Given the description of an element on the screen output the (x, y) to click on. 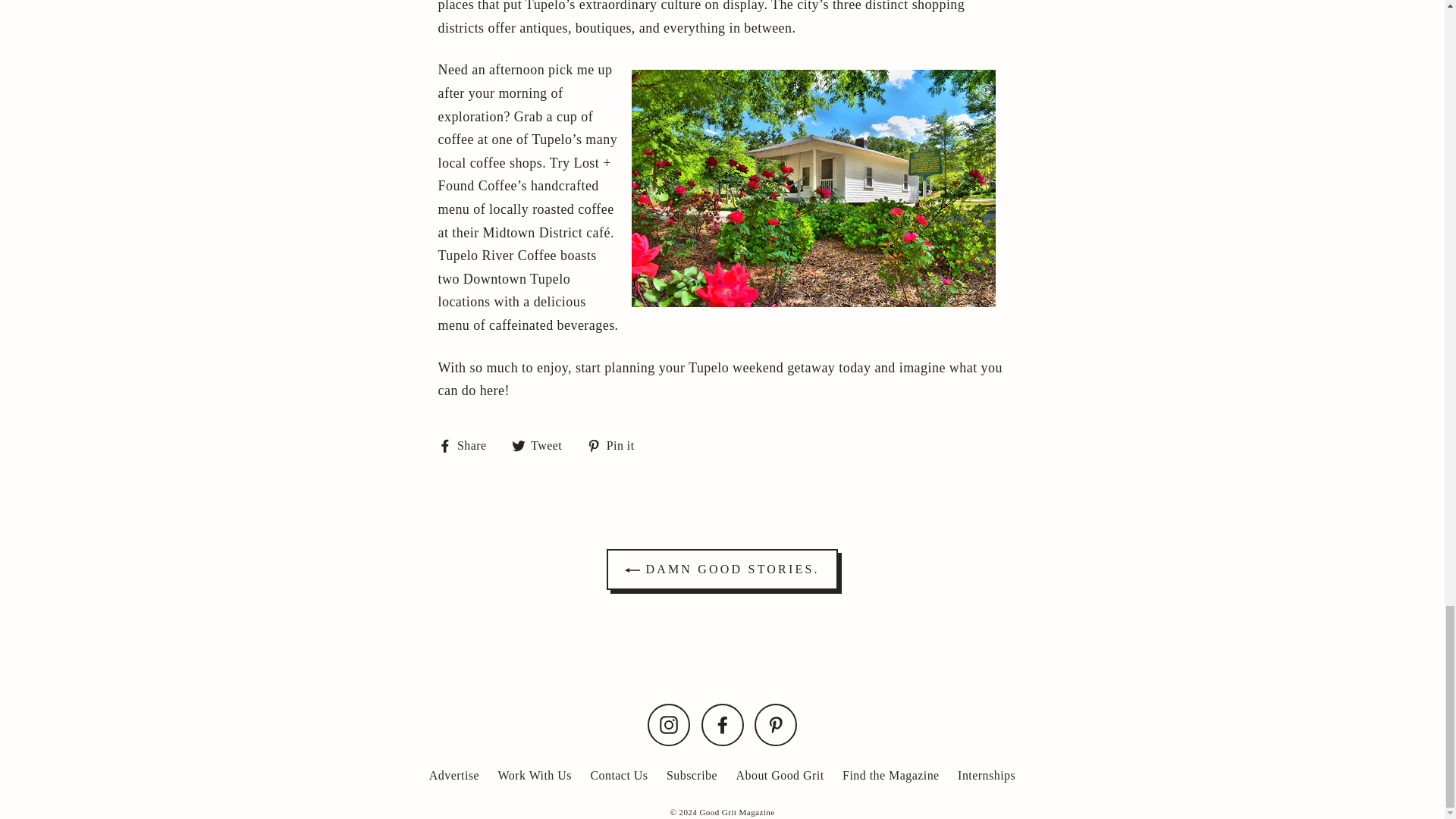
Good Grit Magazine on Instagram (668, 724)
Tweet on Twitter (542, 445)
Good Grit Magazine on Pinterest (775, 724)
Share on Facebook (467, 445)
Pin on Pinterest (615, 445)
Good Grit Magazine on Facebook (721, 724)
